Given the description of an element on the screen output the (x, y) to click on. 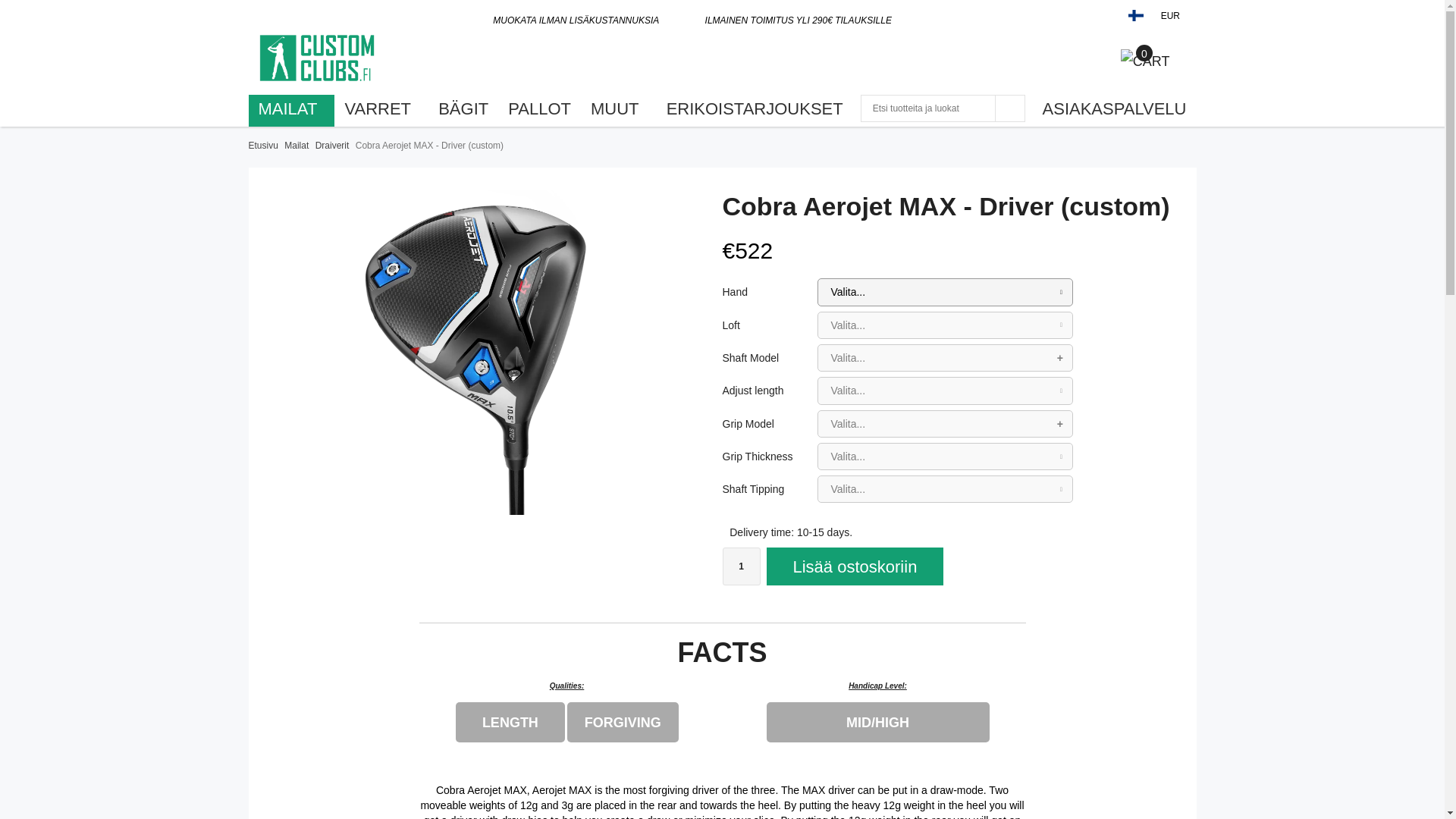
PALLOT (538, 107)
Draiverit (332, 145)
VARRET (381, 107)
1 (741, 566)
MAILAT (291, 107)
MUUT (618, 107)
Mailat (295, 145)
